Given the description of an element on the screen output the (x, y) to click on. 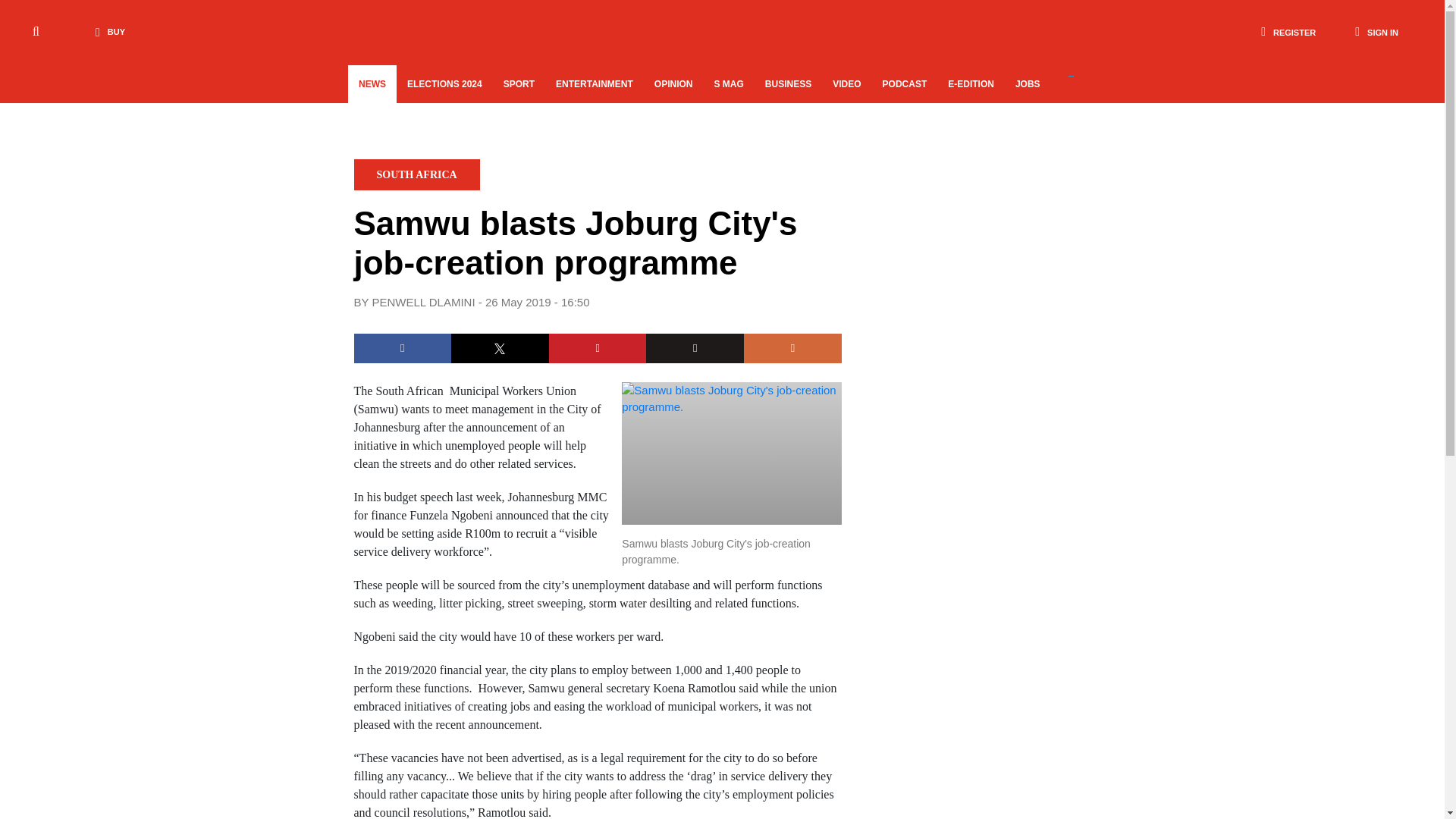
Our Network (1073, 83)
BUSINESS (788, 84)
SIGN IN (1376, 32)
REGISTER (1288, 32)
JOBS (1027, 84)
NEWS (371, 84)
PODCAST (904, 84)
VIDEO (846, 84)
E-EDITION (970, 84)
OPINION (673, 84)
SPORT (518, 84)
ELECTIONS 2024 (444, 84)
ENTERTAINMENT (593, 84)
BUY (106, 32)
S MAG (728, 84)
